Given the description of an element on the screen output the (x, y) to click on. 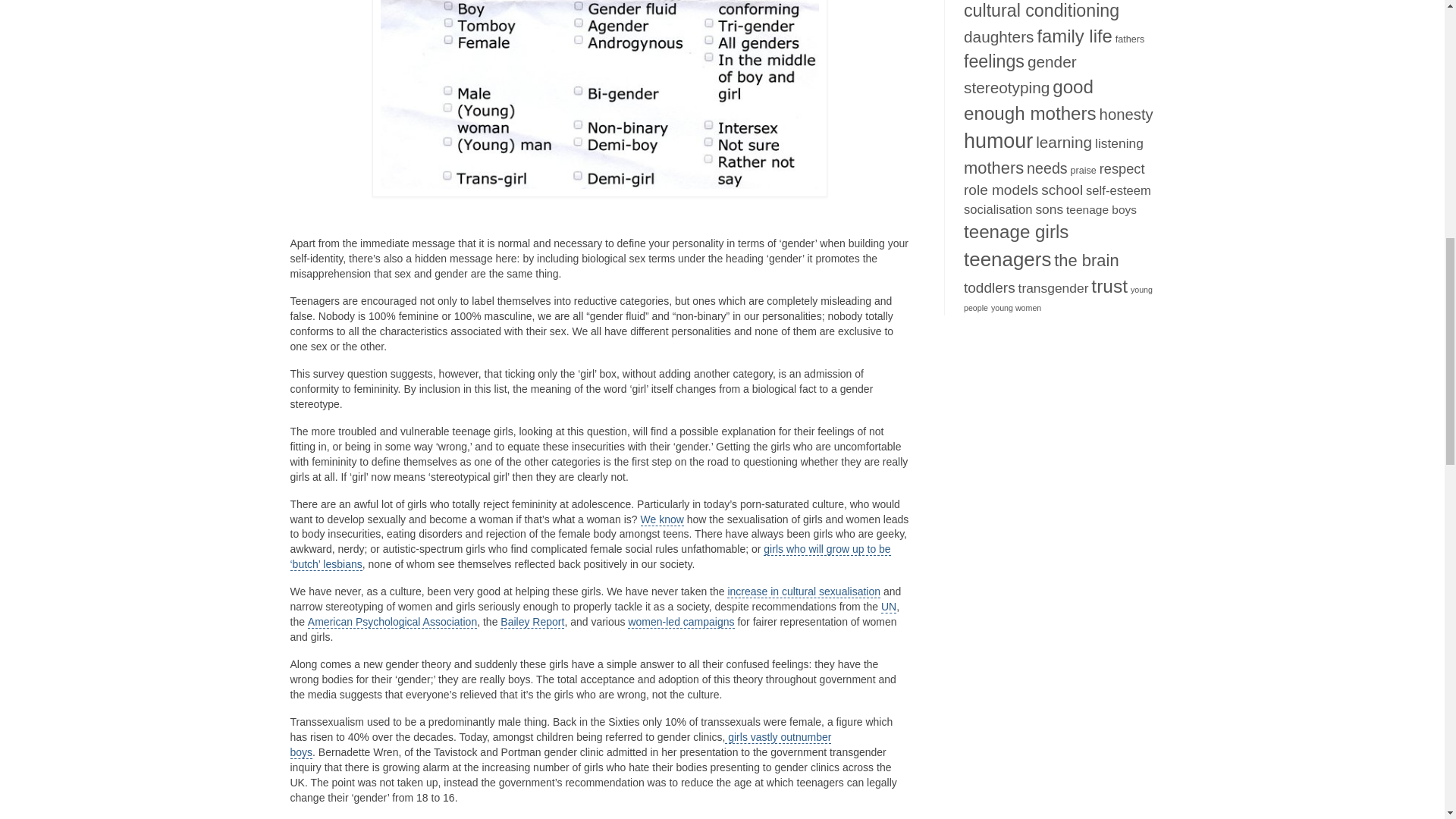
We know (661, 518)
